Given the description of an element on the screen output the (x, y) to click on. 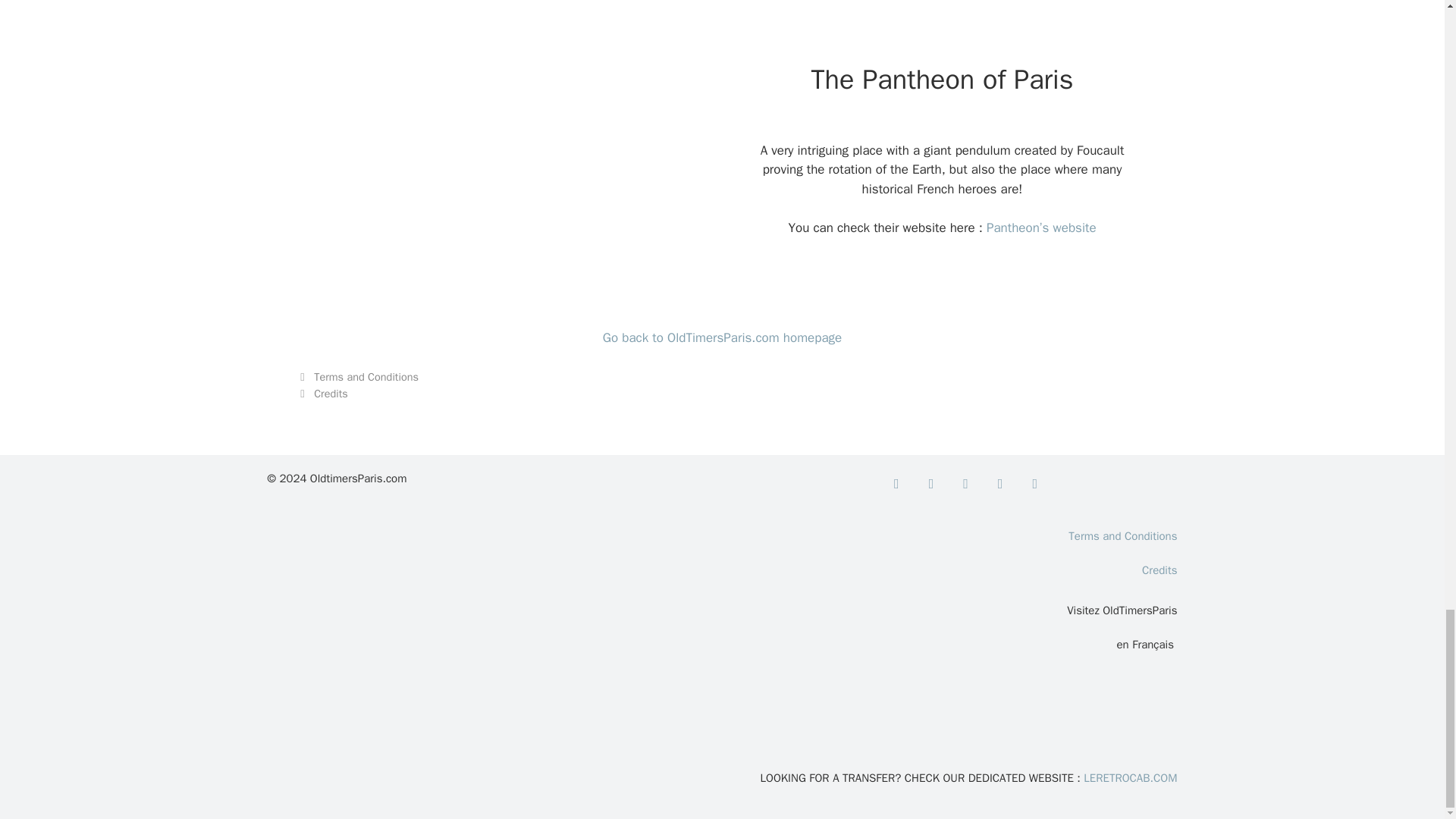
Terms and Conditions (366, 377)
Trip Advisor (1034, 484)
Twitter (930, 484)
Facebook (896, 484)
Go back to OldTimersParis.com homepage (721, 337)
Pinterest (999, 484)
Instagram (965, 484)
Credits (330, 393)
